Given the description of an element on the screen output the (x, y) to click on. 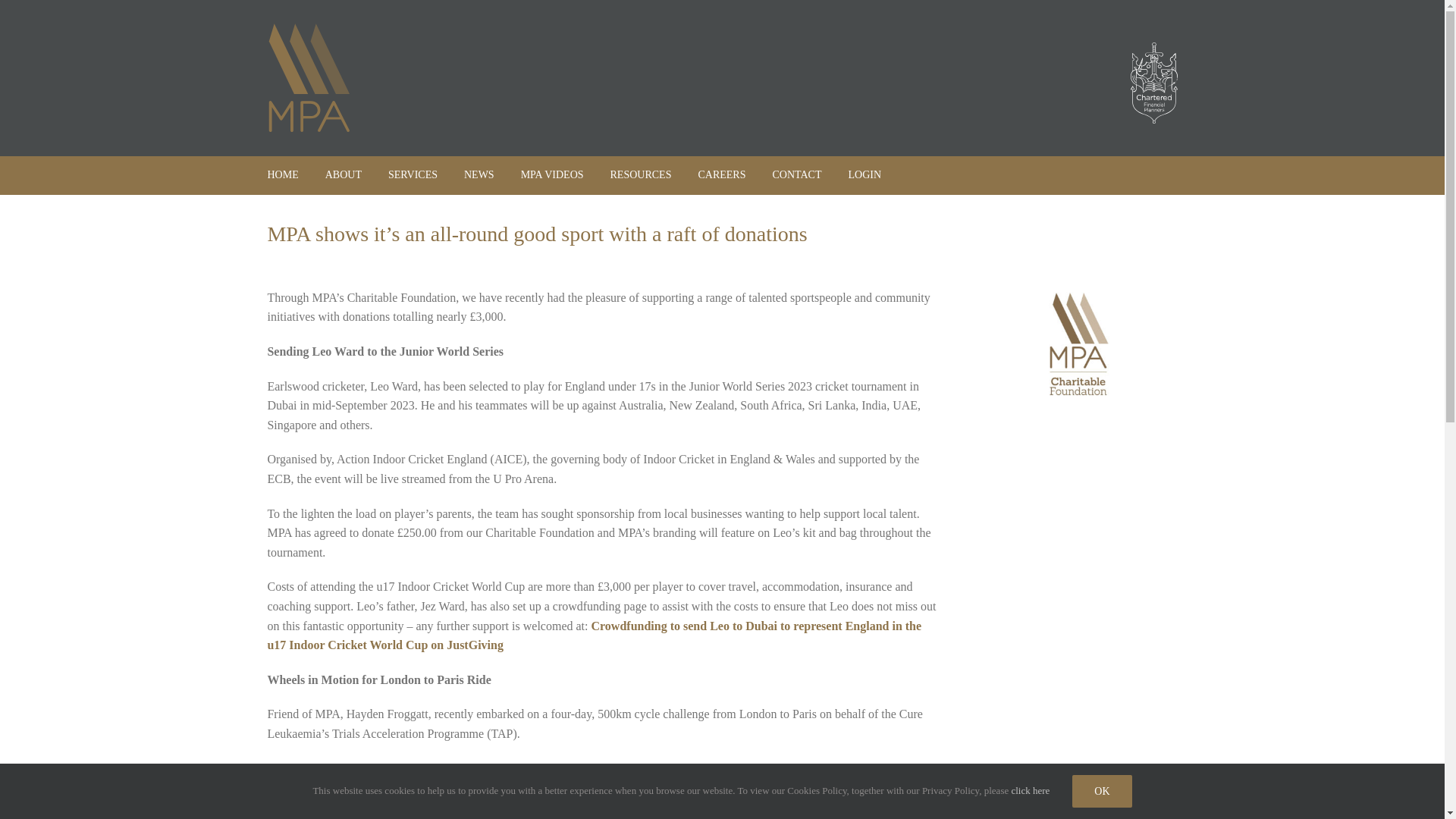
CAREERS (721, 175)
ABOUT (342, 175)
SERVICES (413, 175)
MPA-Charitable-Foundation-Logo-custom3 (1076, 344)
CONTACT (796, 175)
RESOURCES (640, 175)
MPA VIDEOS (552, 175)
